Given the description of an element on the screen output the (x, y) to click on. 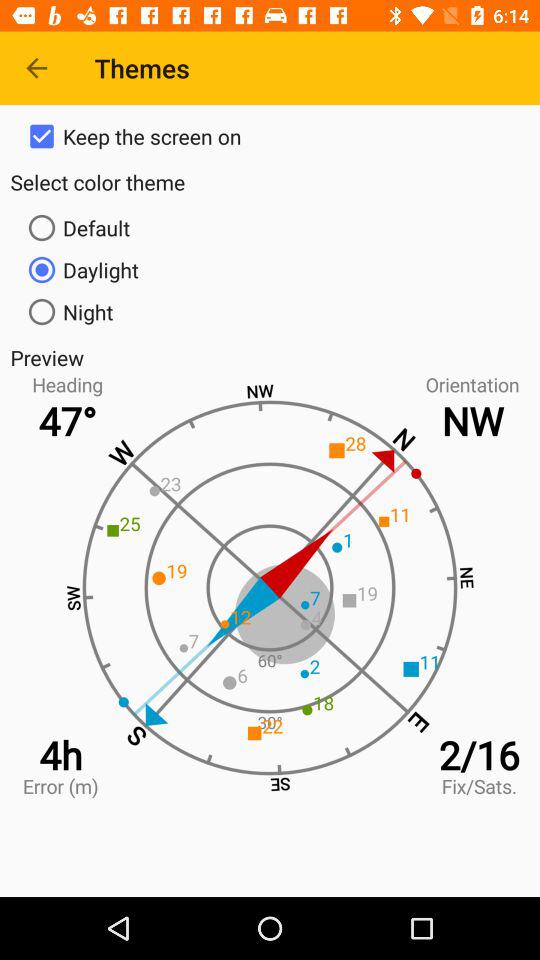
choose icon below daylight icon (270, 311)
